Given the description of an element on the screen output the (x, y) to click on. 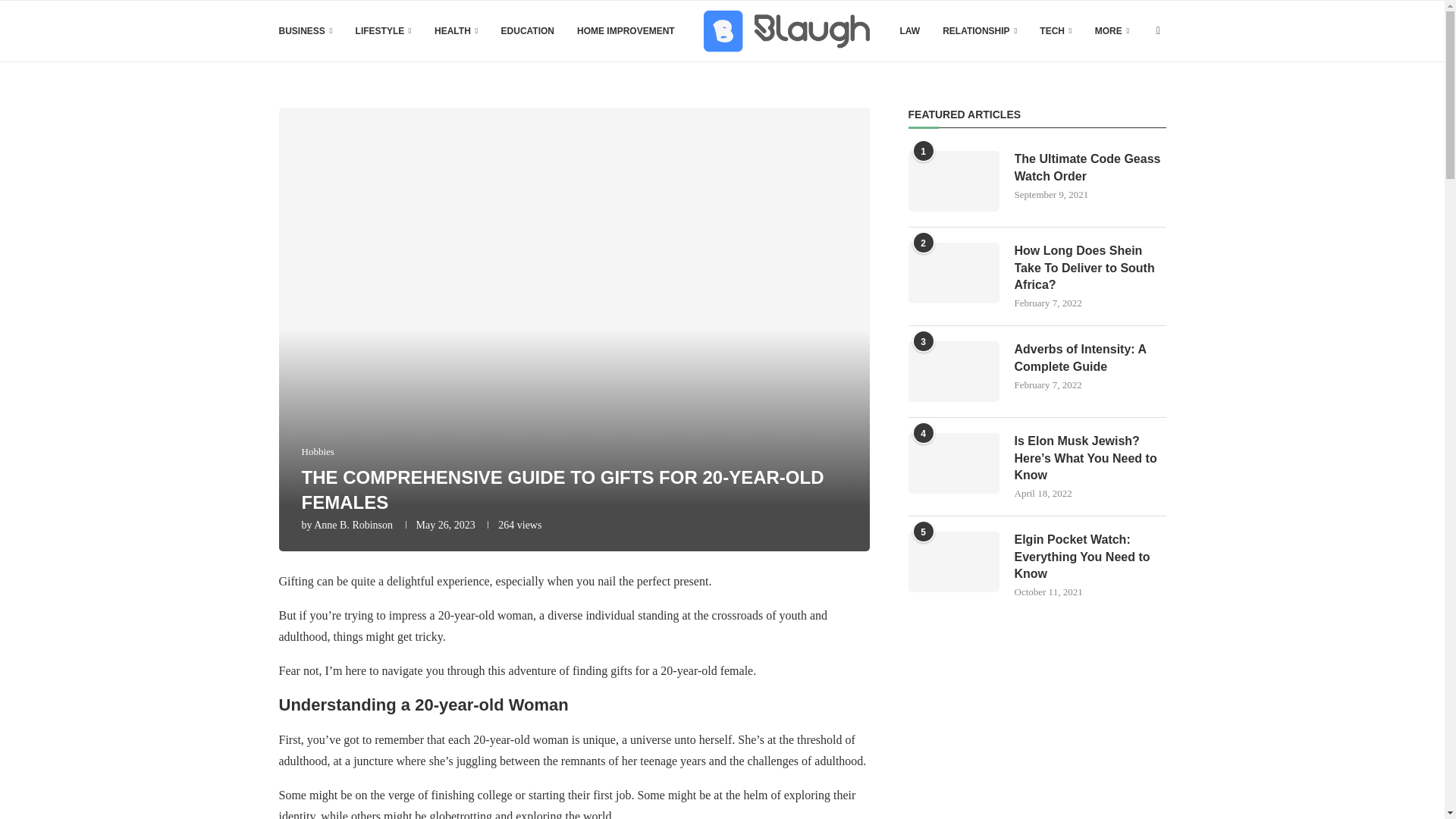
The Ultimate Code Geass Watch Order (953, 180)
HOME IMPROVEMENT (625, 30)
The Ultimate Code Geass Watch Order (1090, 167)
RELATIONSHIP (979, 30)
LIFESTYLE (383, 30)
Adverbs of Intensity: A Complete Guide (953, 371)
How Long Does Shein Take To Deliver to South Africa? (953, 272)
Hobbies (317, 451)
How Long Does Shein Take To Deliver to South Africa? (1090, 267)
